Given the description of an element on the screen output the (x, y) to click on. 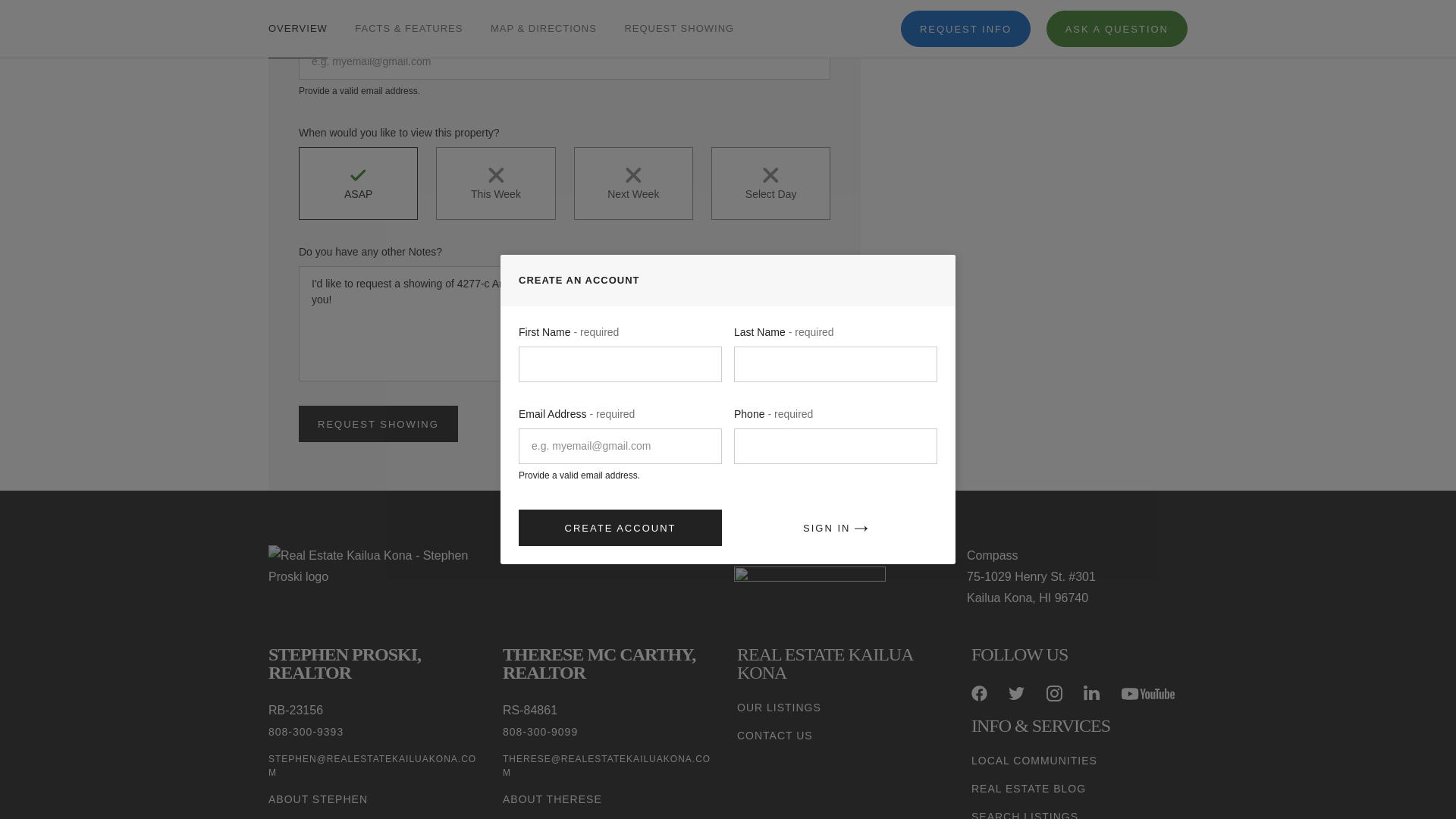
FACEBOOK (979, 693)
TWITTER (1017, 693)
YOUTUBE (1147, 693)
LINKEDIN (1091, 693)
